Given the description of an element on the screen output the (x, y) to click on. 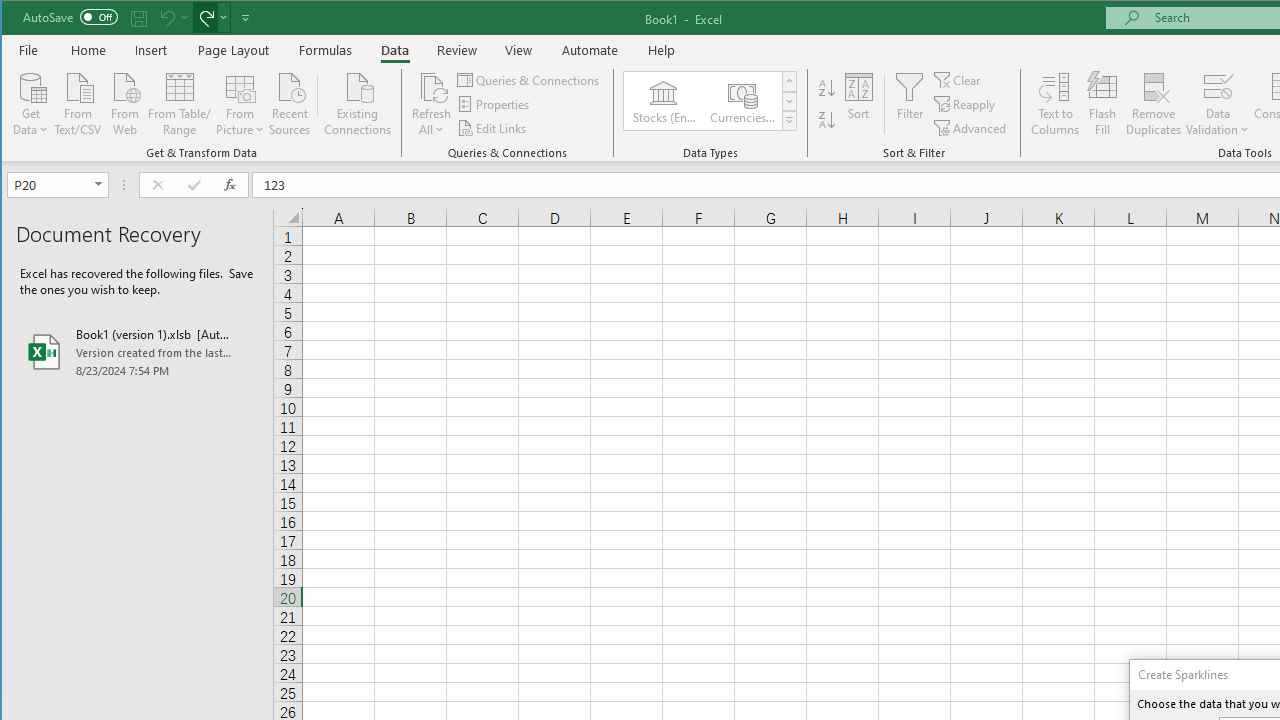
Class: NetUIImage (789, 120)
Book1 (version 1).xlsb  [AutoRecovered] (137, 352)
Text to Columns... (1055, 104)
Automate (589, 50)
Sort... (859, 104)
From Table/Range (179, 101)
Stocks (English) (663, 100)
Refresh All (431, 104)
AutomationID: ConvertToLinkedEntity (711, 101)
Refresh All (431, 86)
